Given the description of an element on the screen output the (x, y) to click on. 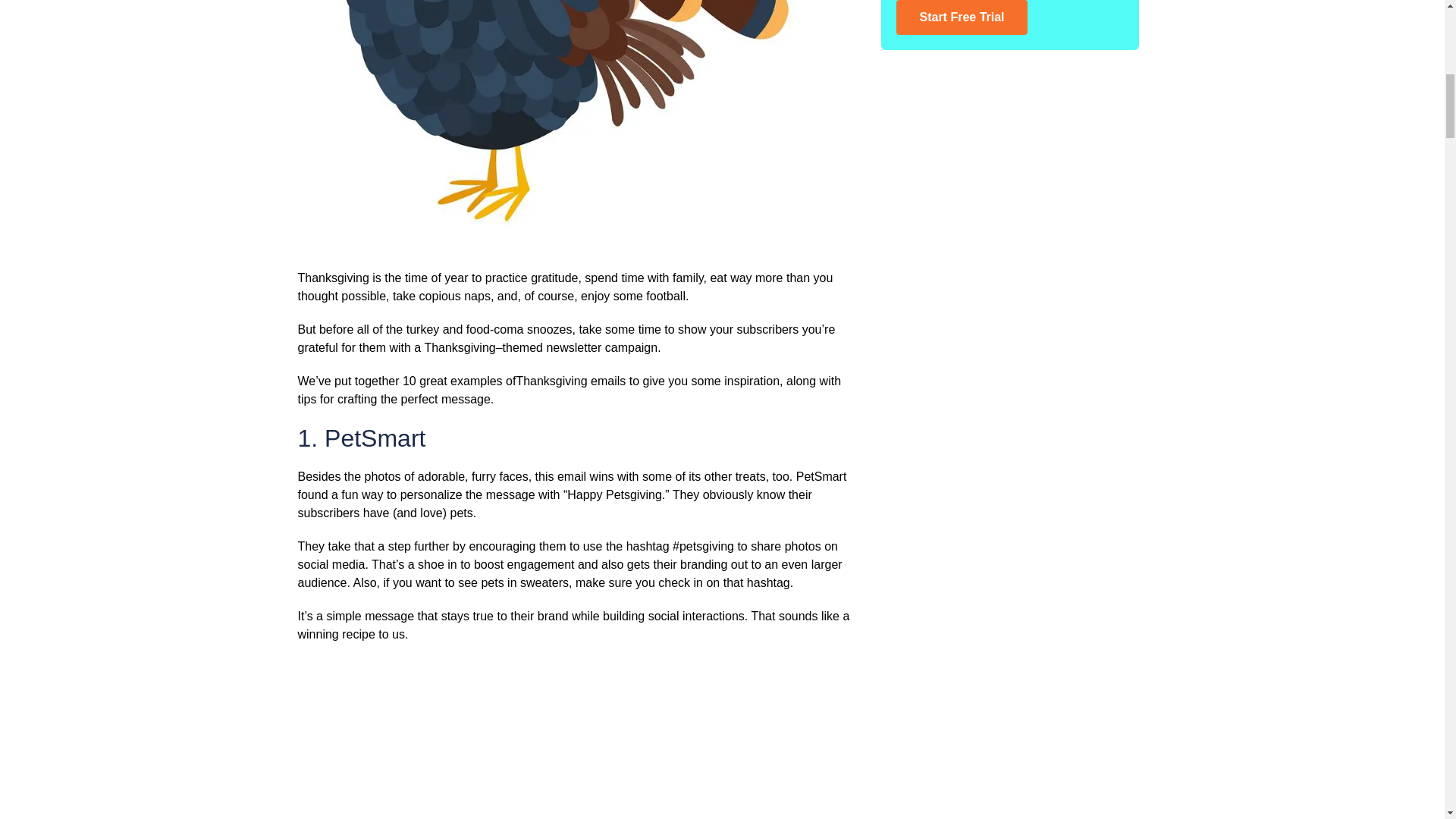
Start Free Trial (961, 17)
